Given the description of an element on the screen output the (x, y) to click on. 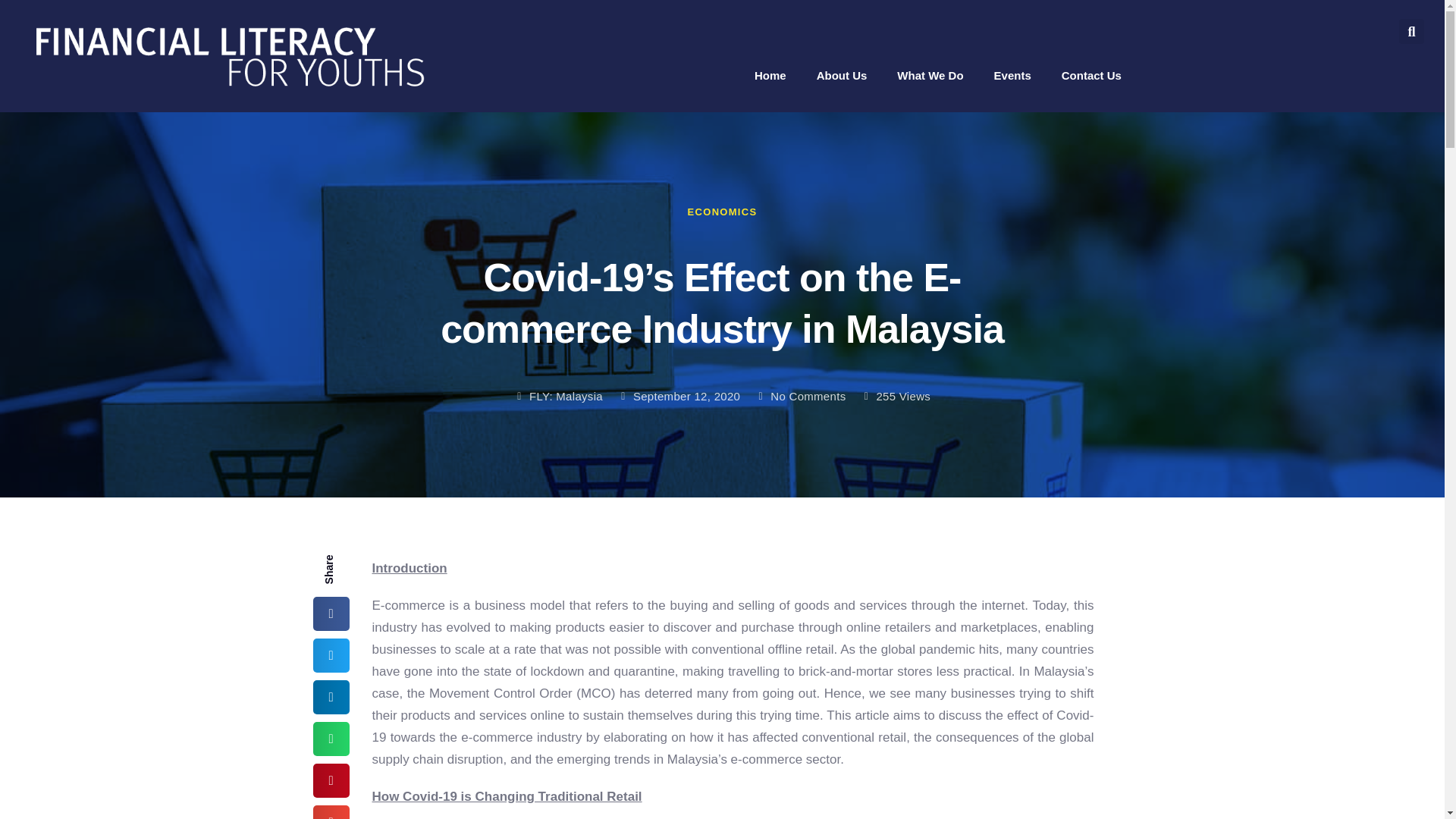
ECONOMICS (722, 211)
What We Do (929, 74)
FLY: Malaysia (557, 396)
Contact Us (1091, 74)
September 12, 2020 (678, 396)
No Comments (800, 396)
About Us (841, 74)
Home (770, 74)
Events (1012, 74)
